Given the description of an element on the screen output the (x, y) to click on. 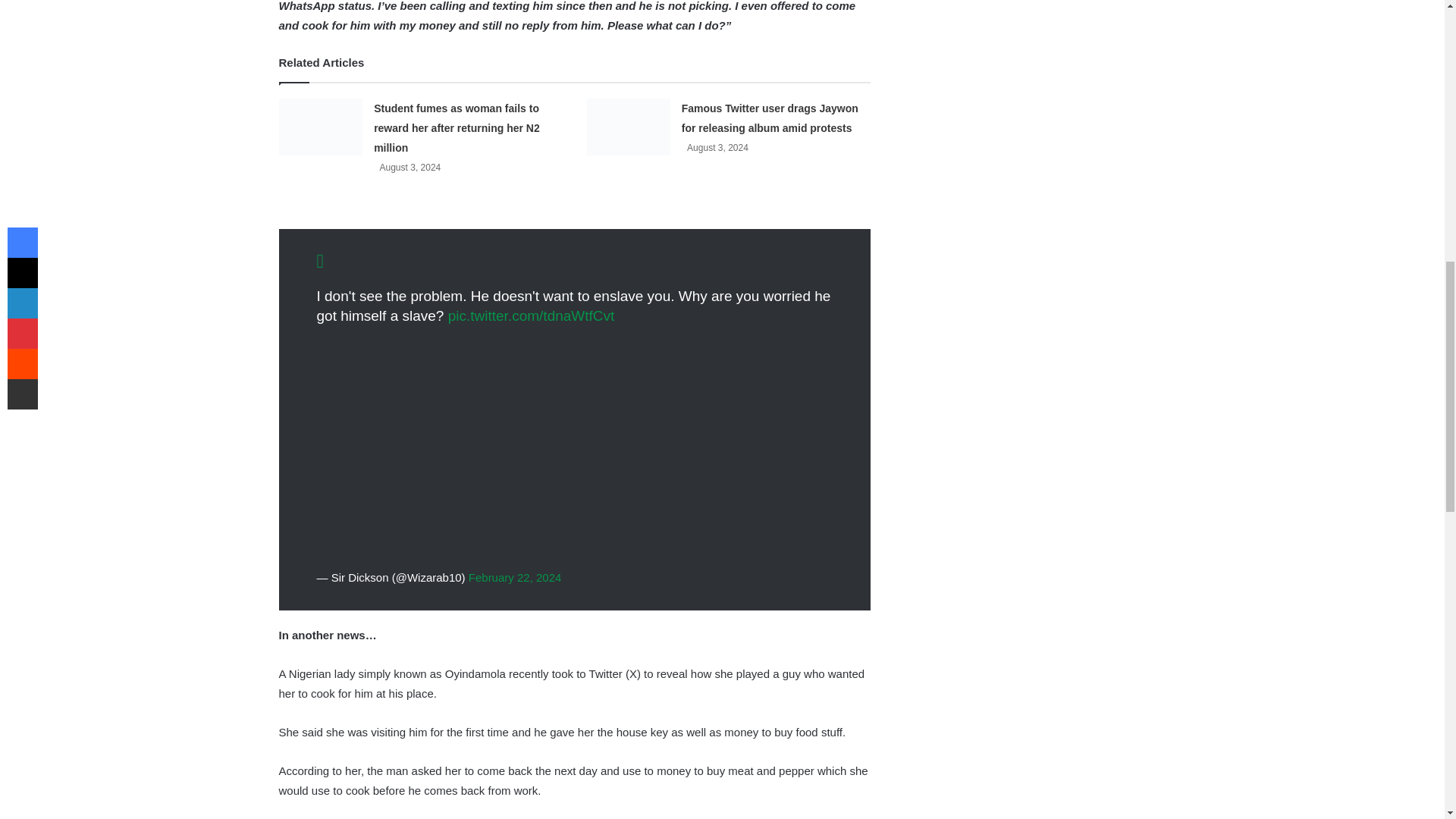
February 22, 2024 (515, 576)
